Given the description of an element on the screen output the (x, y) to click on. 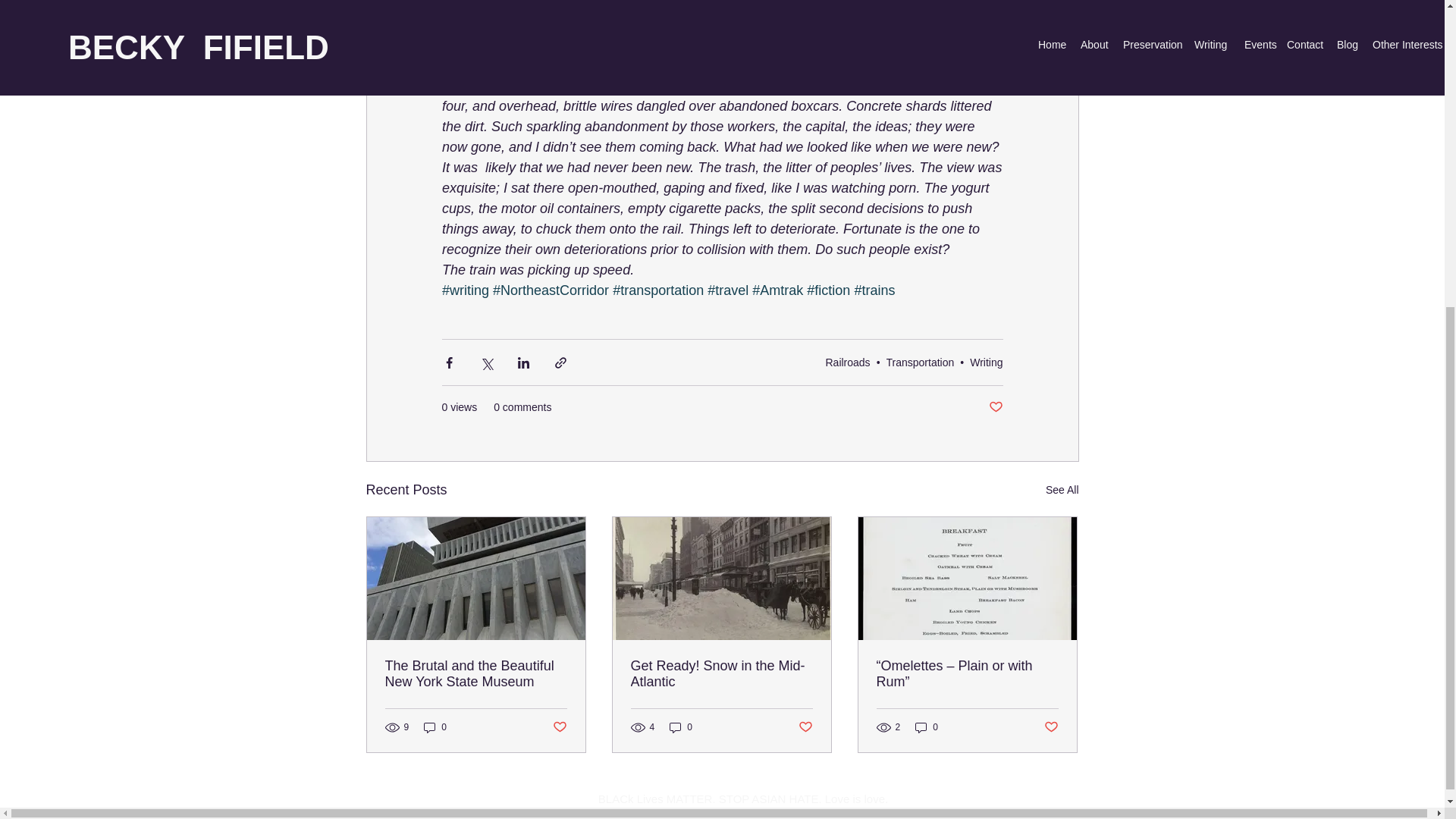
The Brutal and the Beautiful New York State Museum (476, 674)
Transportation (920, 362)
Railroads (847, 362)
0 (681, 727)
Post not marked as liked (558, 727)
Get Ready! Snow in the Mid-Atlantic (721, 674)
Writing (986, 362)
Post not marked as liked (995, 407)
0 (435, 727)
See All (1061, 490)
